Given the description of an element on the screen output the (x, y) to click on. 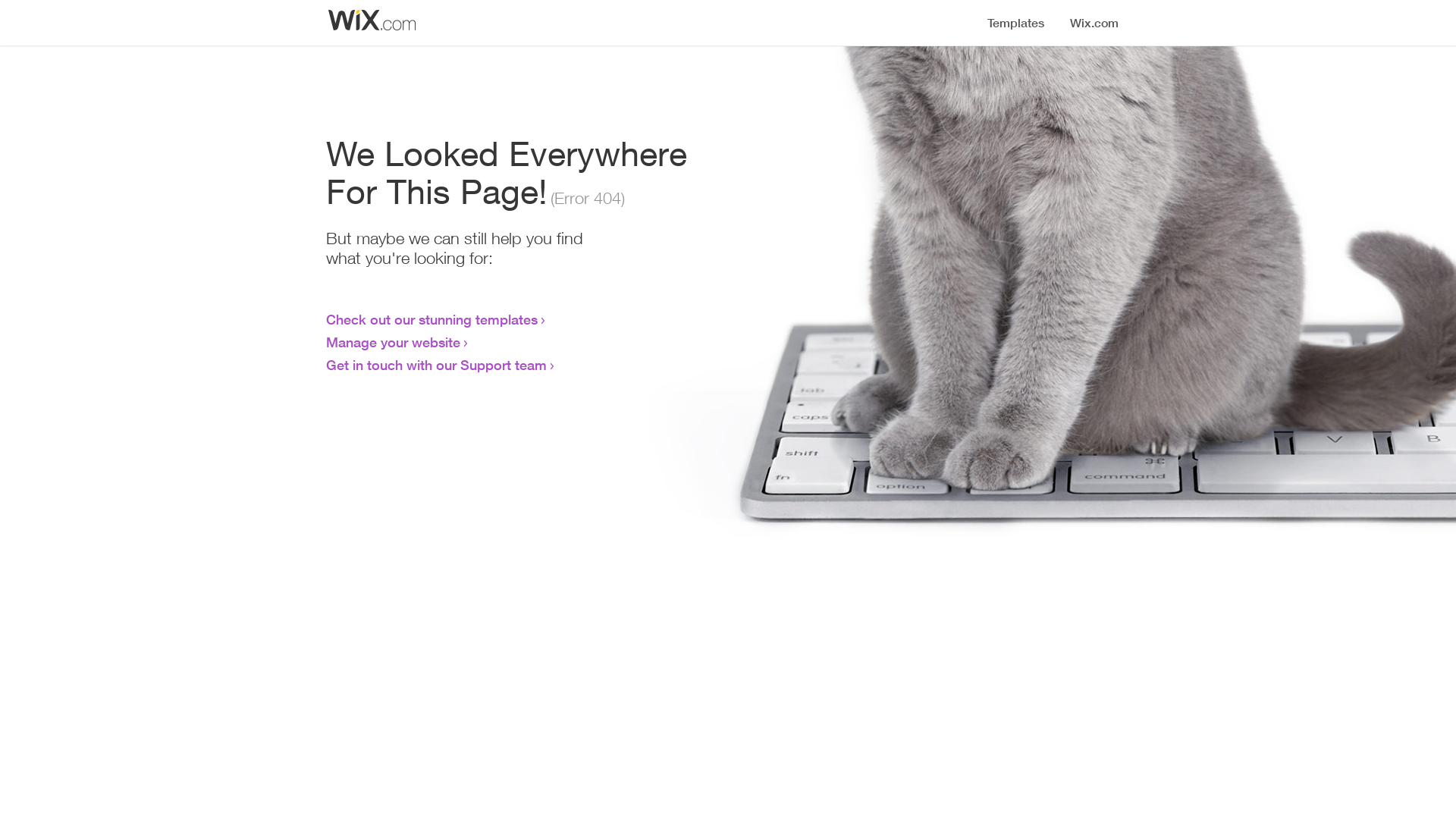
Get in touch with our Support team Element type: text (436, 364)
Manage your website Element type: text (393, 341)
Check out our stunning templates Element type: text (431, 318)
